Given the description of an element on the screen output the (x, y) to click on. 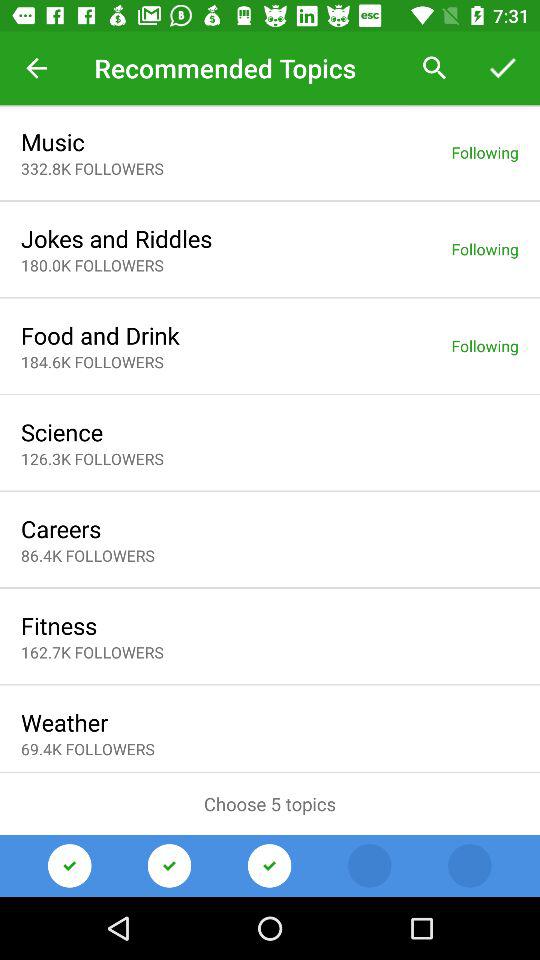
turn off icon to the left of the recommended topics item (36, 68)
